Given the description of an element on the screen output the (x, y) to click on. 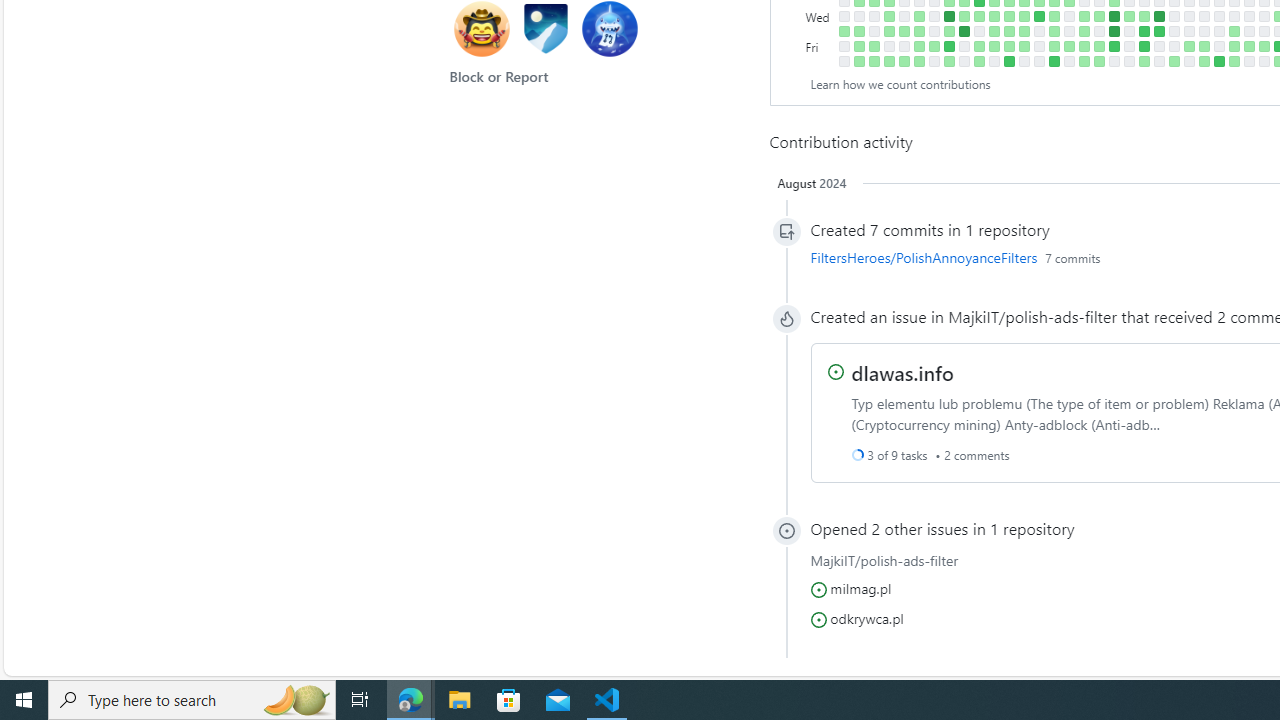
2 contributions on October 25th. (978, 16)
No contributions on November 4th. (993, 61)
No contributions on March 7th. (1263, 30)
3 contributions on November 30th. (1053, 30)
No contributions on December 6th. (1068, 16)
8 contributions on November 22nd. (1038, 16)
No contributions on September 15th. (888, 46)
No contributions on February 21st. (1233, 16)
5 contributions on September 28th. (918, 30)
